Given the description of an element on the screen output the (x, y) to click on. 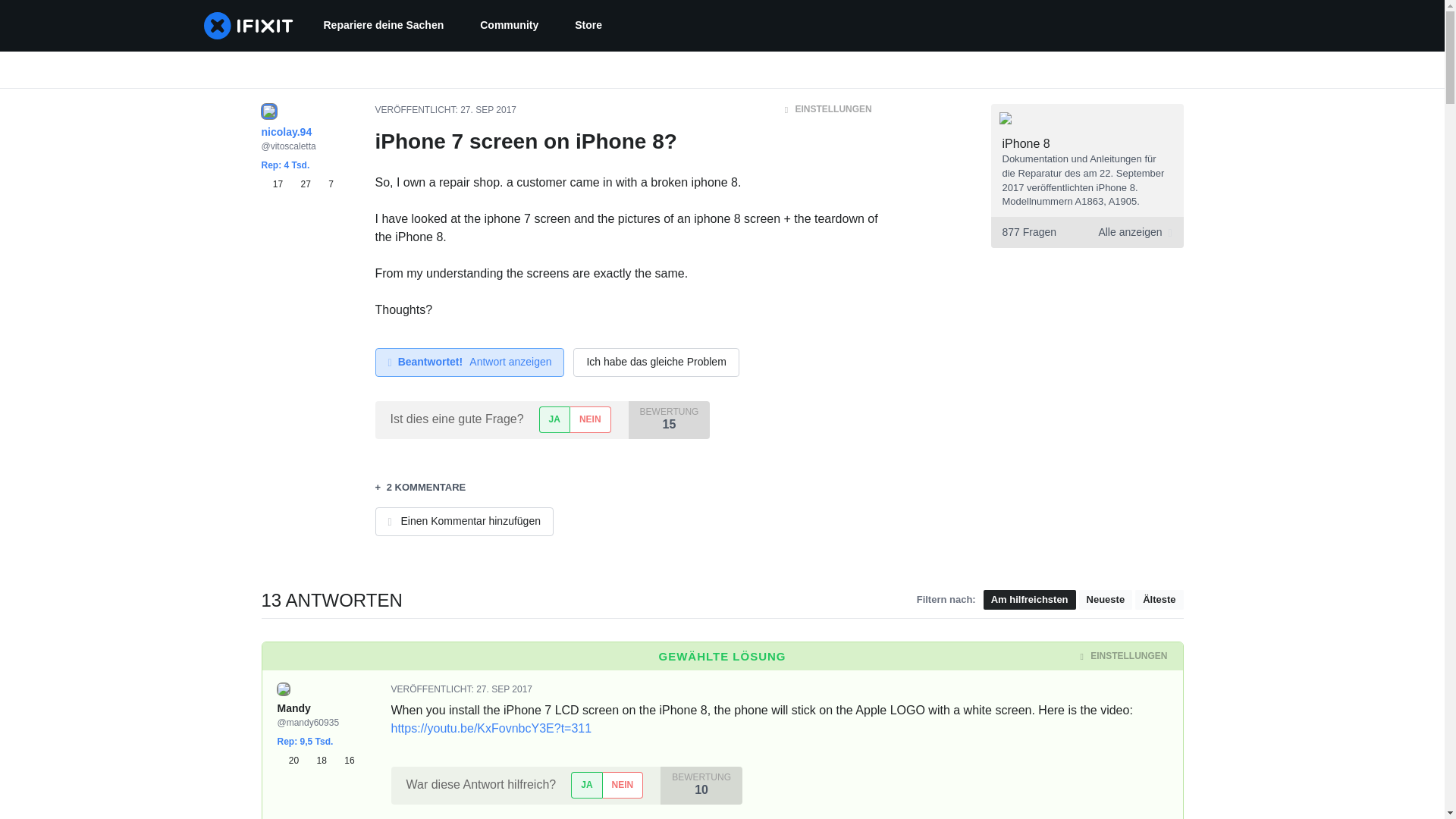
Ich habe das gleiche Problem (655, 362)
Neueste (1105, 599)
17 27 7 (296, 184)
20 Bronze Auszeichnungen (291, 760)
27 Silber Auszeichnungen (302, 184)
JA (553, 419)
16 Gold Auszeichnungen (344, 760)
Wed, 27 Sep 2017 03:07:13 -0700 (504, 688)
Wed, 27 Sep 2017 01:52:00 -0700 (488, 109)
7 Gold Auszeichnungen (325, 184)
